Given the description of an element on the screen output the (x, y) to click on. 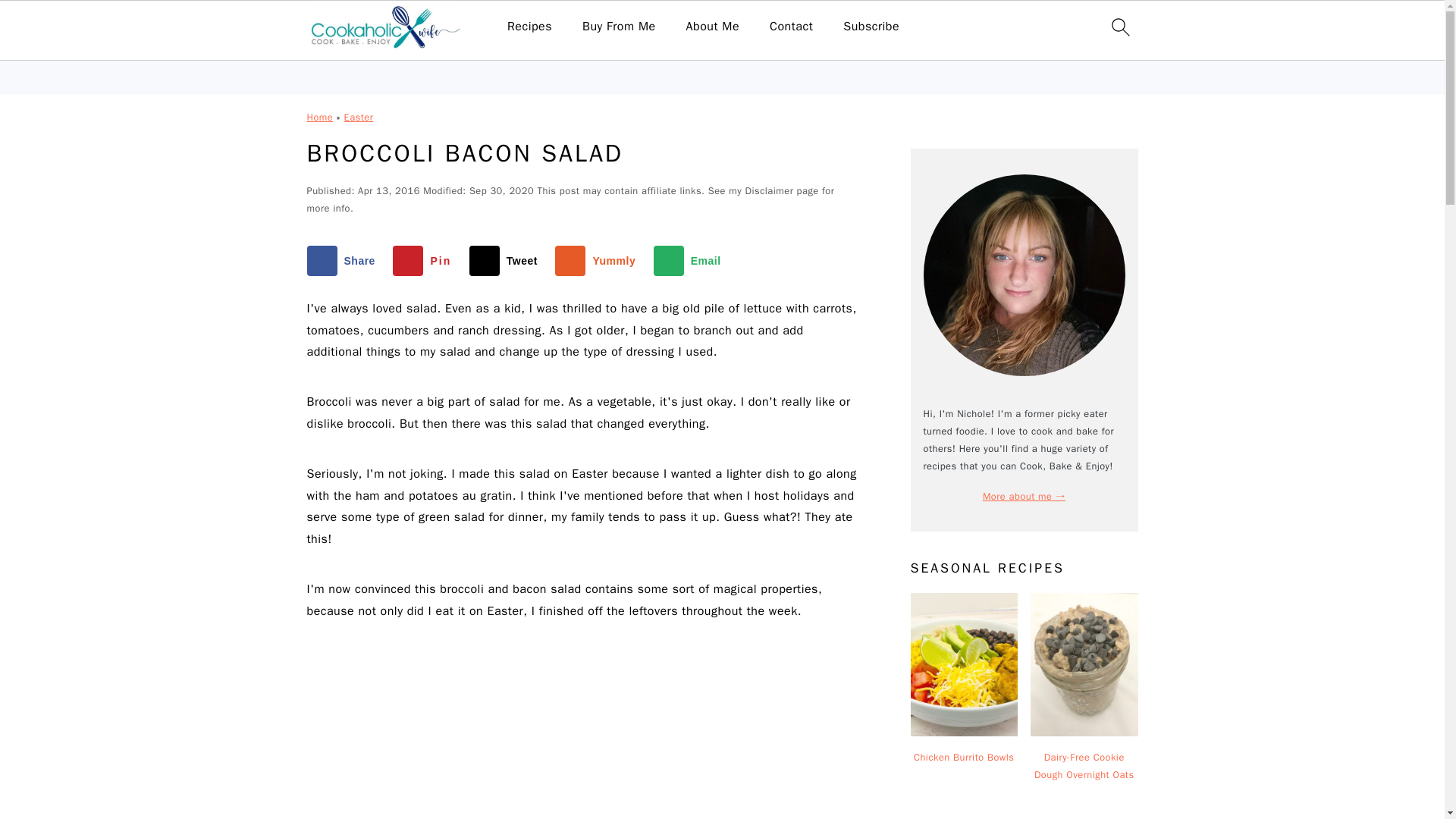
Subscribe (871, 26)
Share on X (506, 260)
search icon (1119, 26)
Contact (791, 26)
Share on Yummly (598, 260)
Send over email (690, 260)
Share on Facebook (343, 260)
Buy From Me (619, 26)
Save to Pinterest (425, 260)
Recipes (528, 26)
About Me (712, 26)
